Given the description of an element on the screen output the (x, y) to click on. 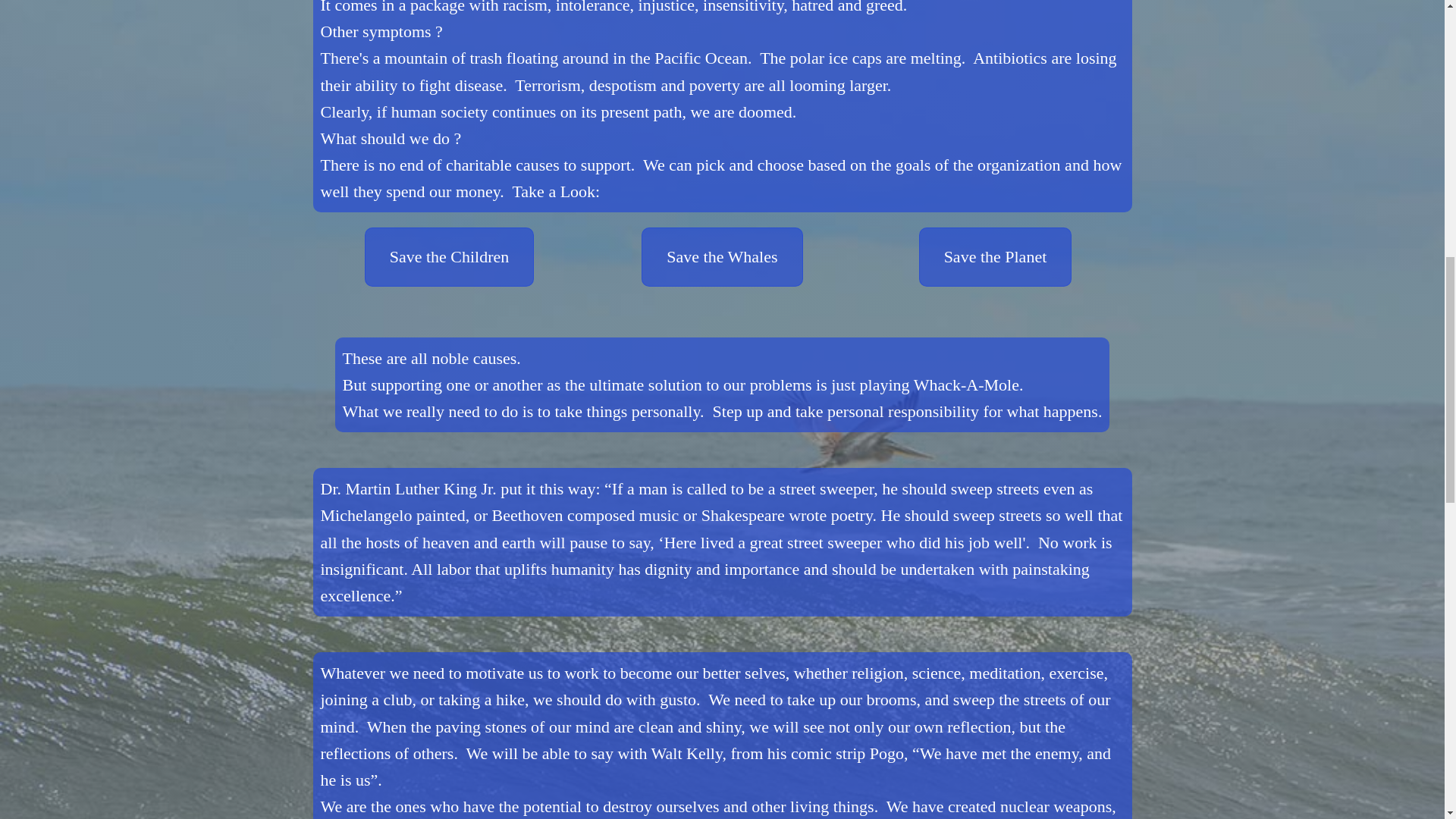
Save the Children (449, 256)
Save the Whales (722, 256)
Save the Planet (994, 256)
